Given the description of an element on the screen output the (x, y) to click on. 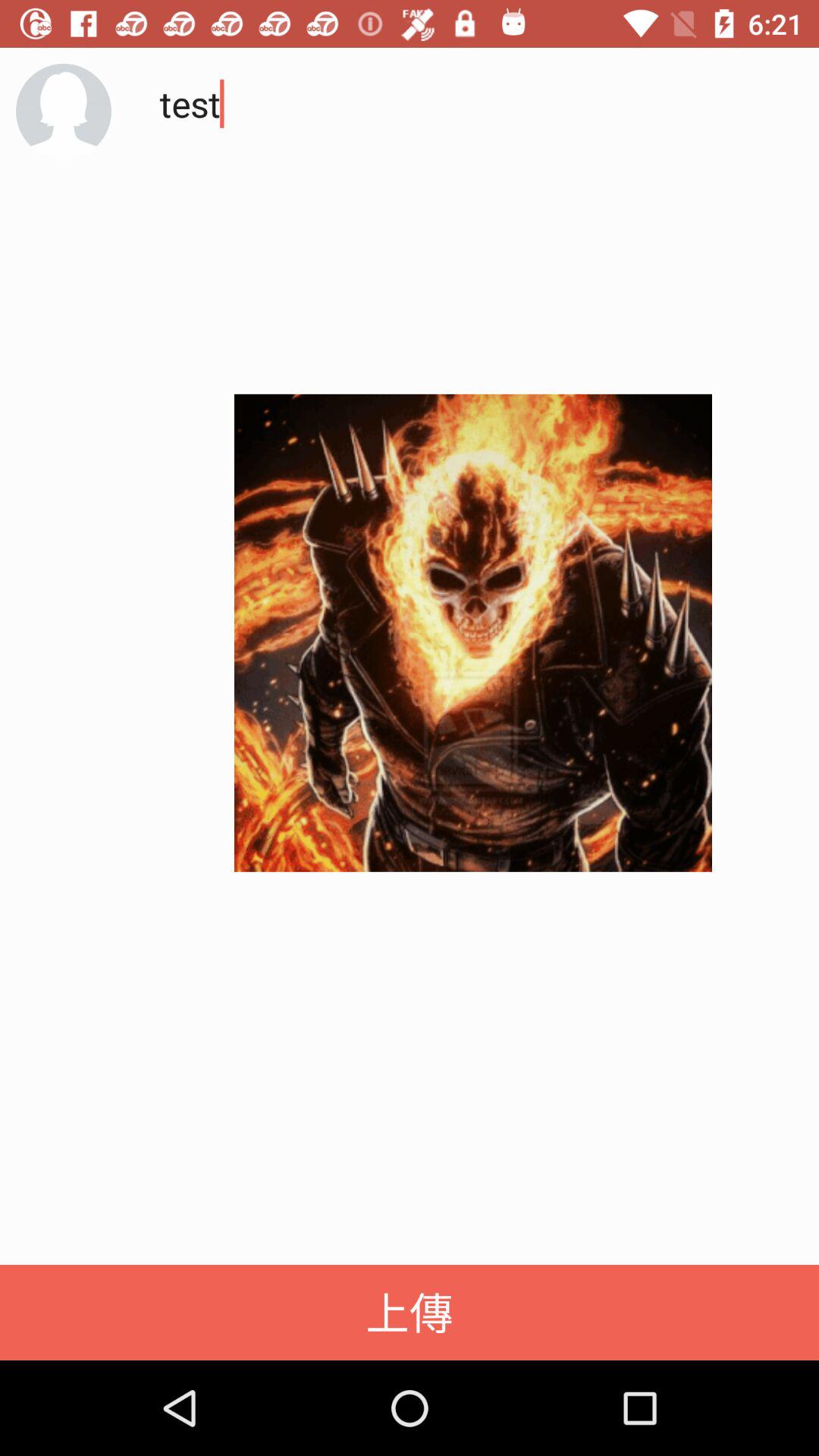
click test item (466, 212)
